Given the description of an element on the screen output the (x, y) to click on. 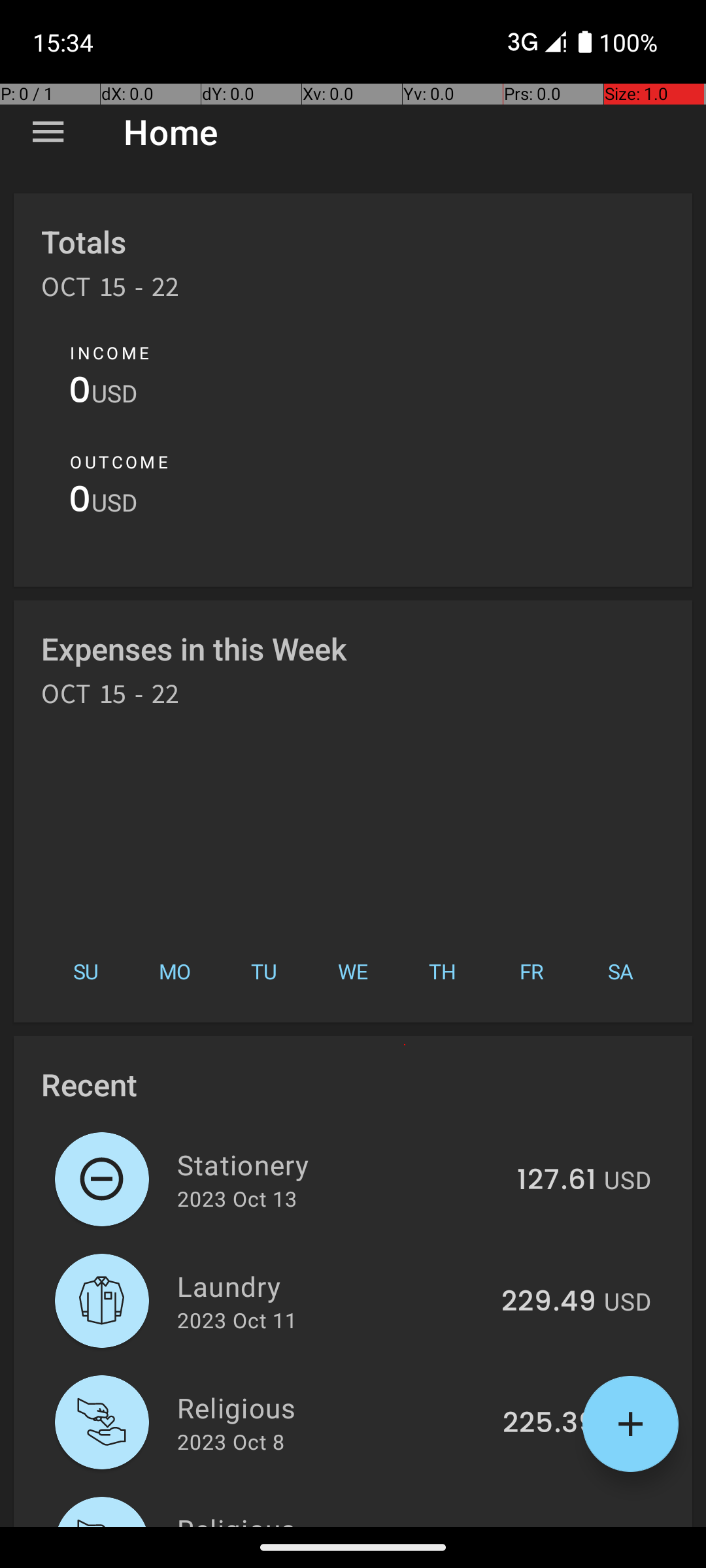
Stationery Element type: android.widget.TextView (339, 1164)
127.61 Element type: android.widget.TextView (556, 1180)
Laundry Element type: android.widget.TextView (331, 1285)
2023 Oct 11 Element type: android.widget.TextView (236, 1320)
229.49 Element type: android.widget.TextView (548, 1301)
Religious Element type: android.widget.TextView (332, 1407)
2023 Oct 8 Element type: android.widget.TextView (230, 1441)
225.39 Element type: android.widget.TextView (549, 1423)
